Given the description of an element on the screen output the (x, y) to click on. 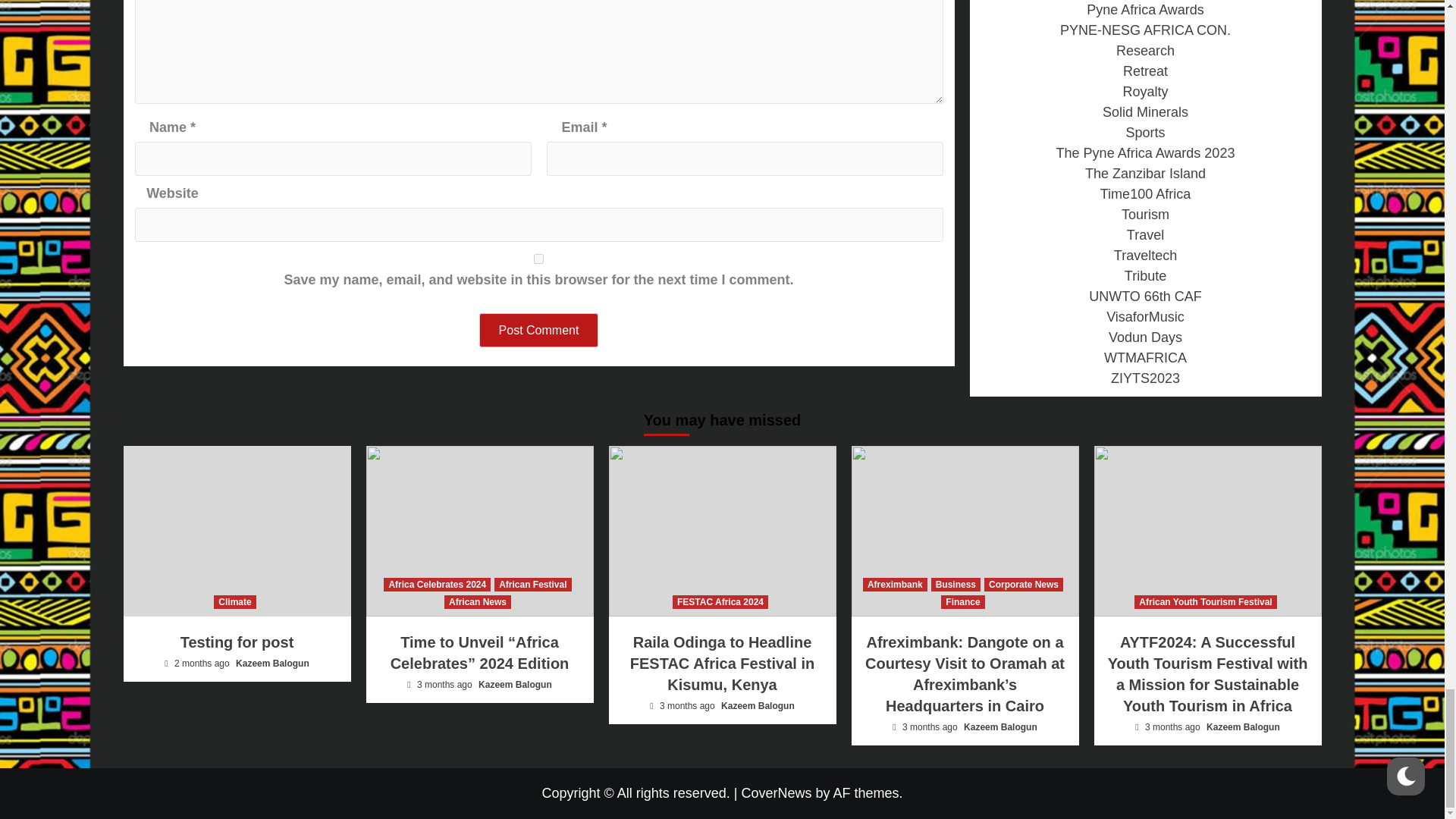
yes (538, 258)
Post Comment (538, 329)
